Given the description of an element on the screen output the (x, y) to click on. 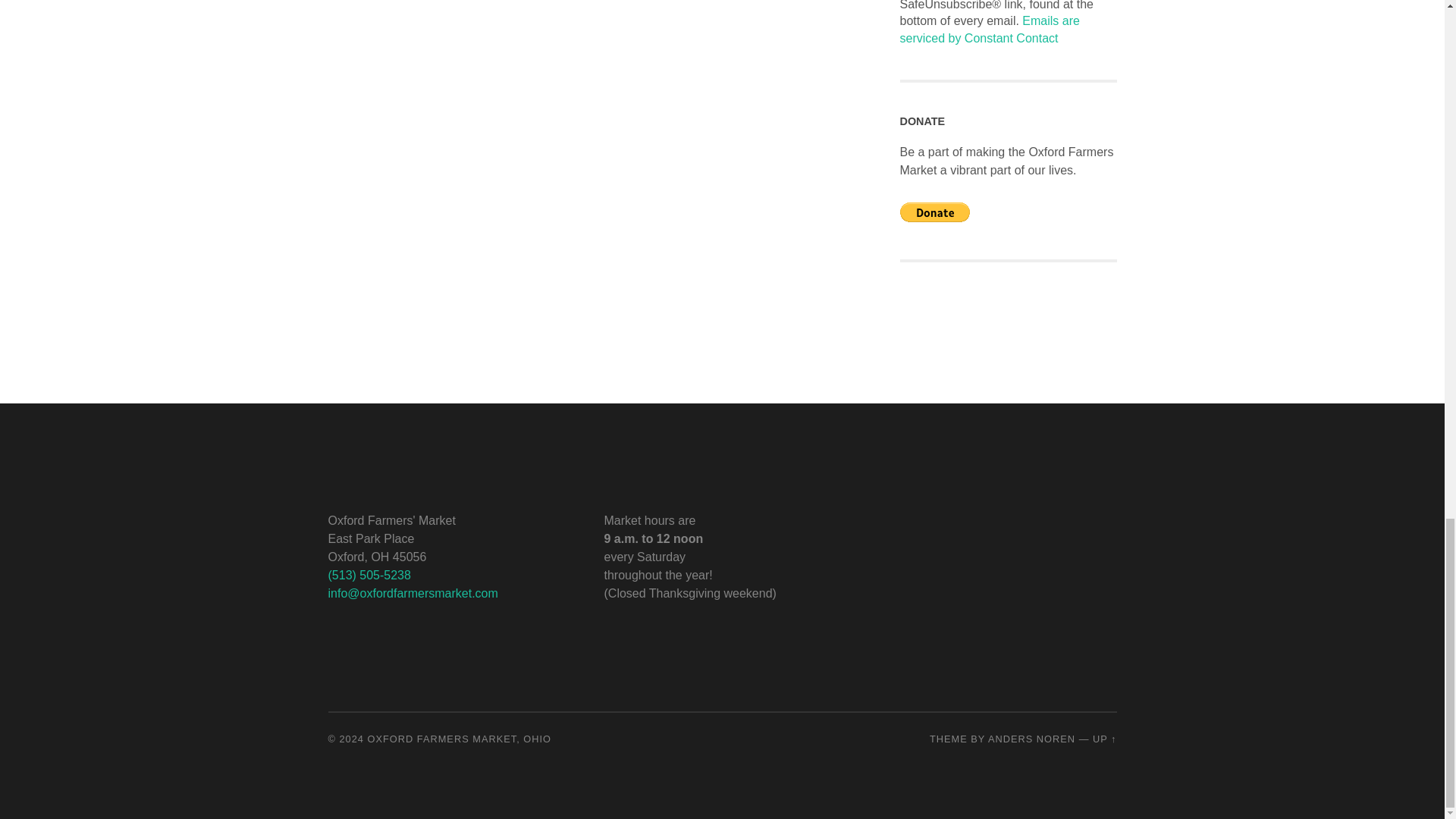
To the top (1104, 738)
